Given the description of an element on the screen output the (x, y) to click on. 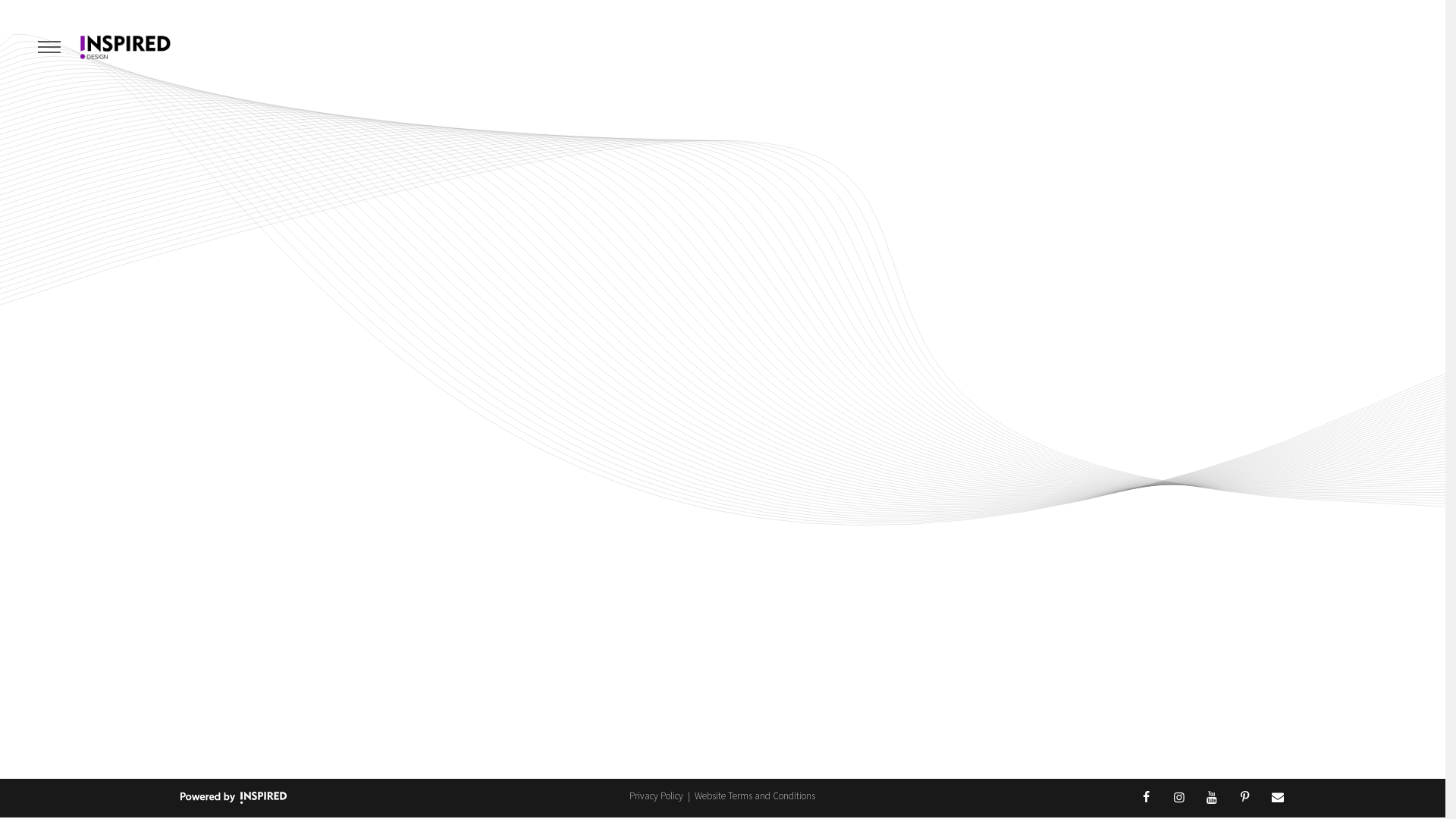
Privacy Policy Element type: text (657, 795)
Website Terms and Conditions Element type: text (754, 795)
